Given the description of an element on the screen output the (x, y) to click on. 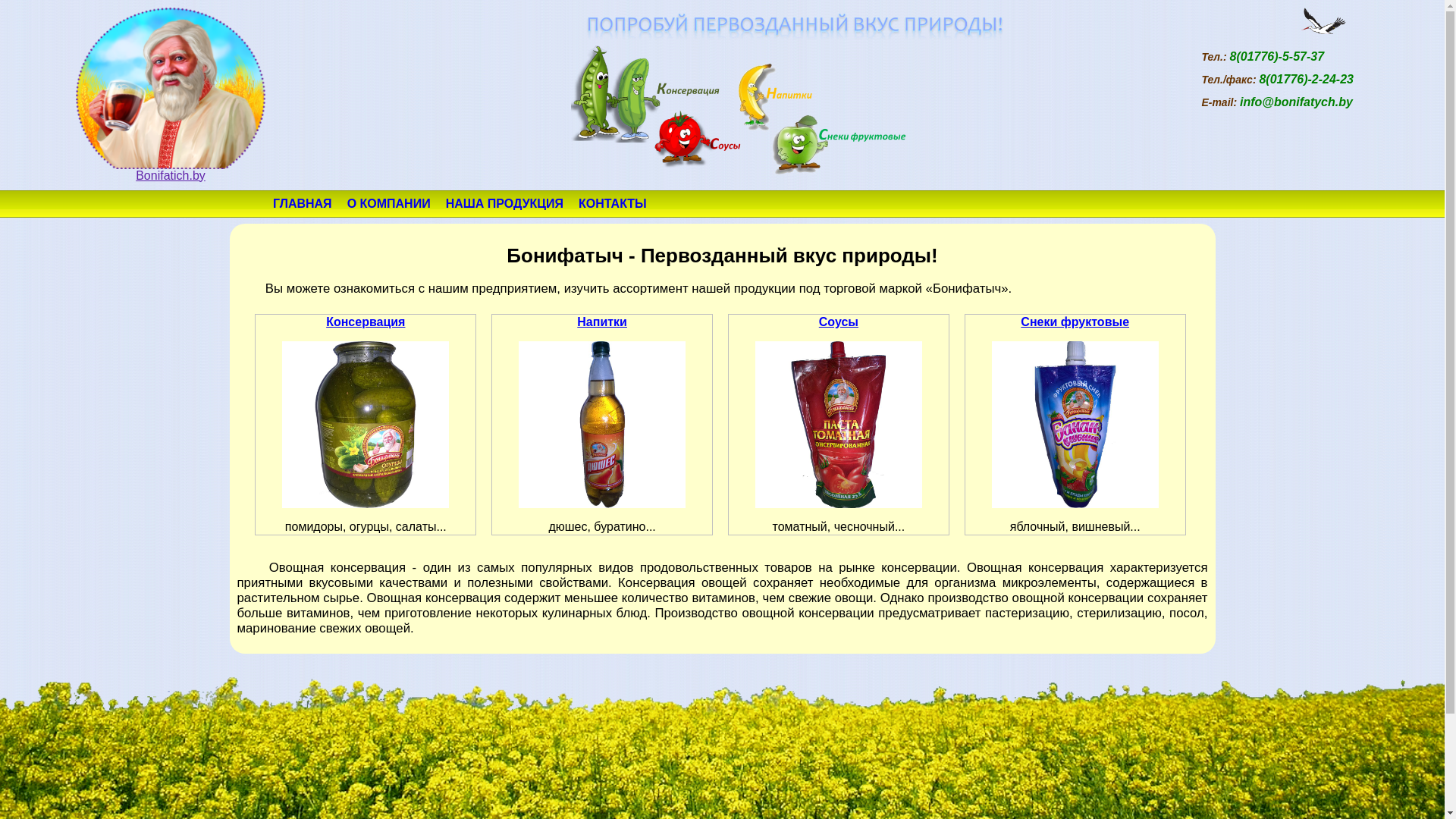
Bonifatich.by Element type: text (170, 169)
